Given the description of an element on the screen output the (x, y) to click on. 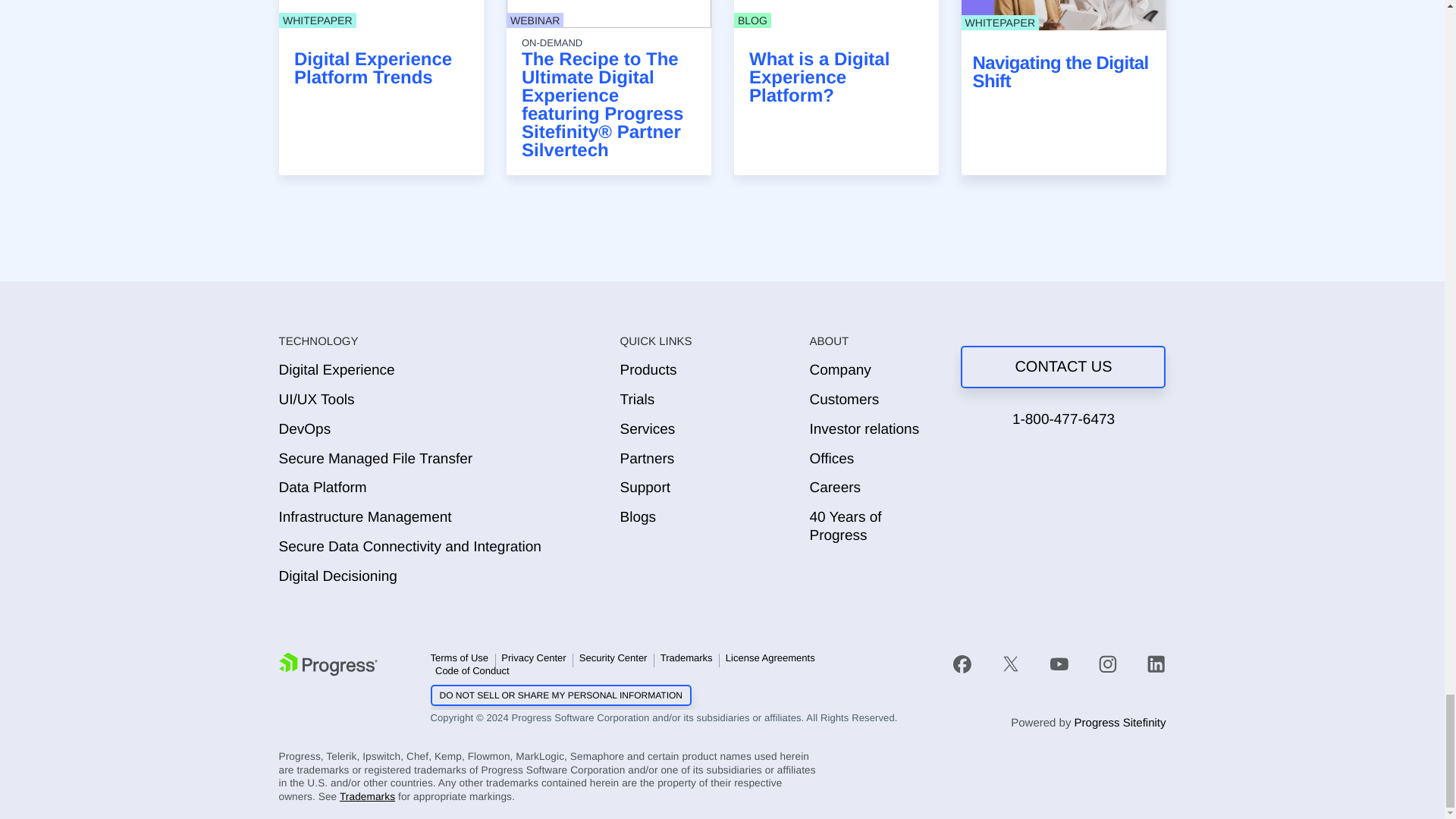
Progress (328, 663)
LinkedIn (1156, 664)
Facebook (962, 664)
Instagram (1107, 664)
X (1010, 664)
instagram (1107, 662)
X (1011, 662)
youtube (1059, 662)
linkedin (1149, 662)
YouTube (1058, 664)
facebook (970, 662)
